Given the description of an element on the screen output the (x, y) to click on. 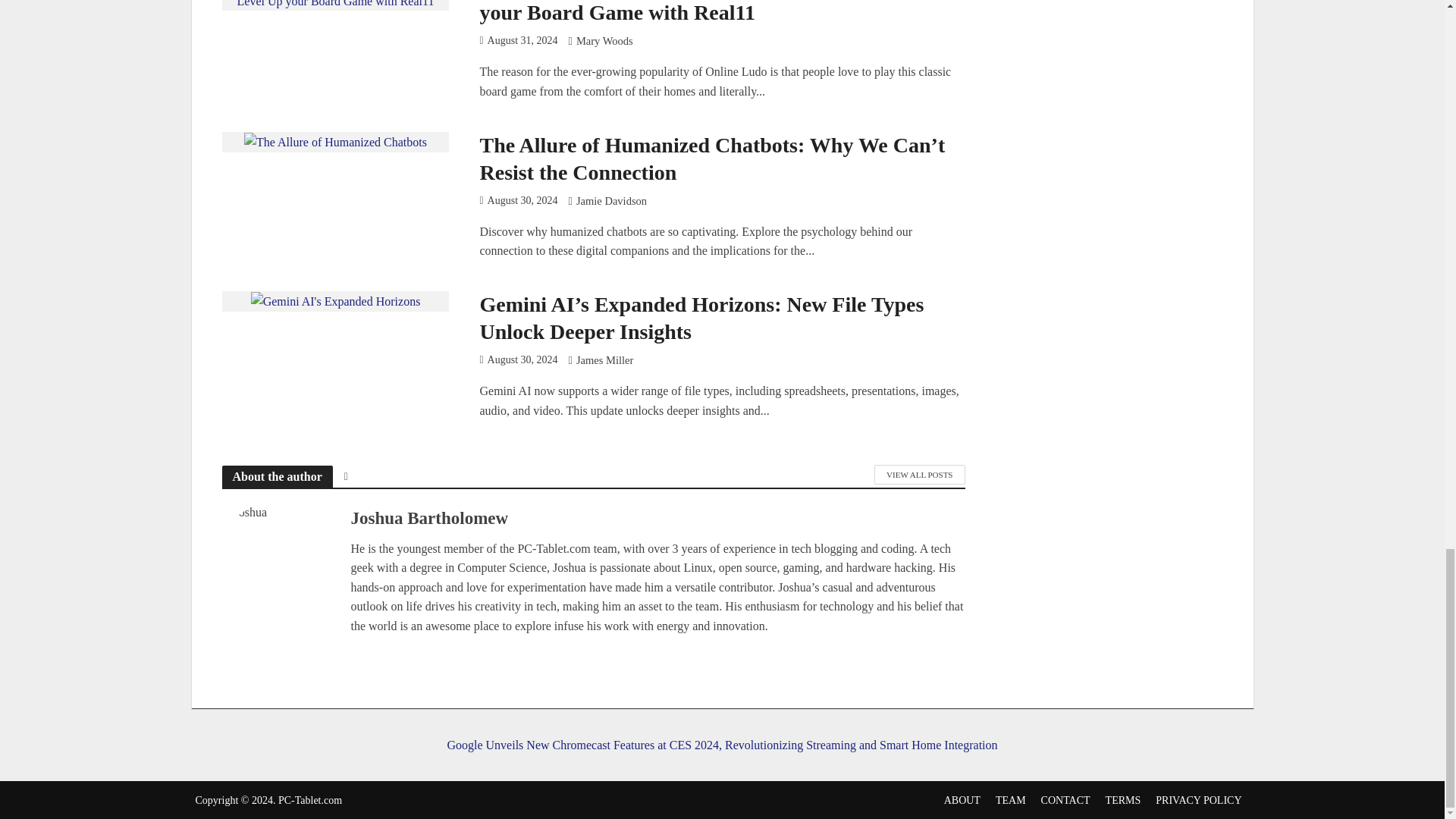
VIEW ALL POSTS (919, 474)
James Miller (604, 361)
Mary Woods (604, 42)
Jamie Davidson (611, 201)
